Given the description of an element on the screen output the (x, y) to click on. 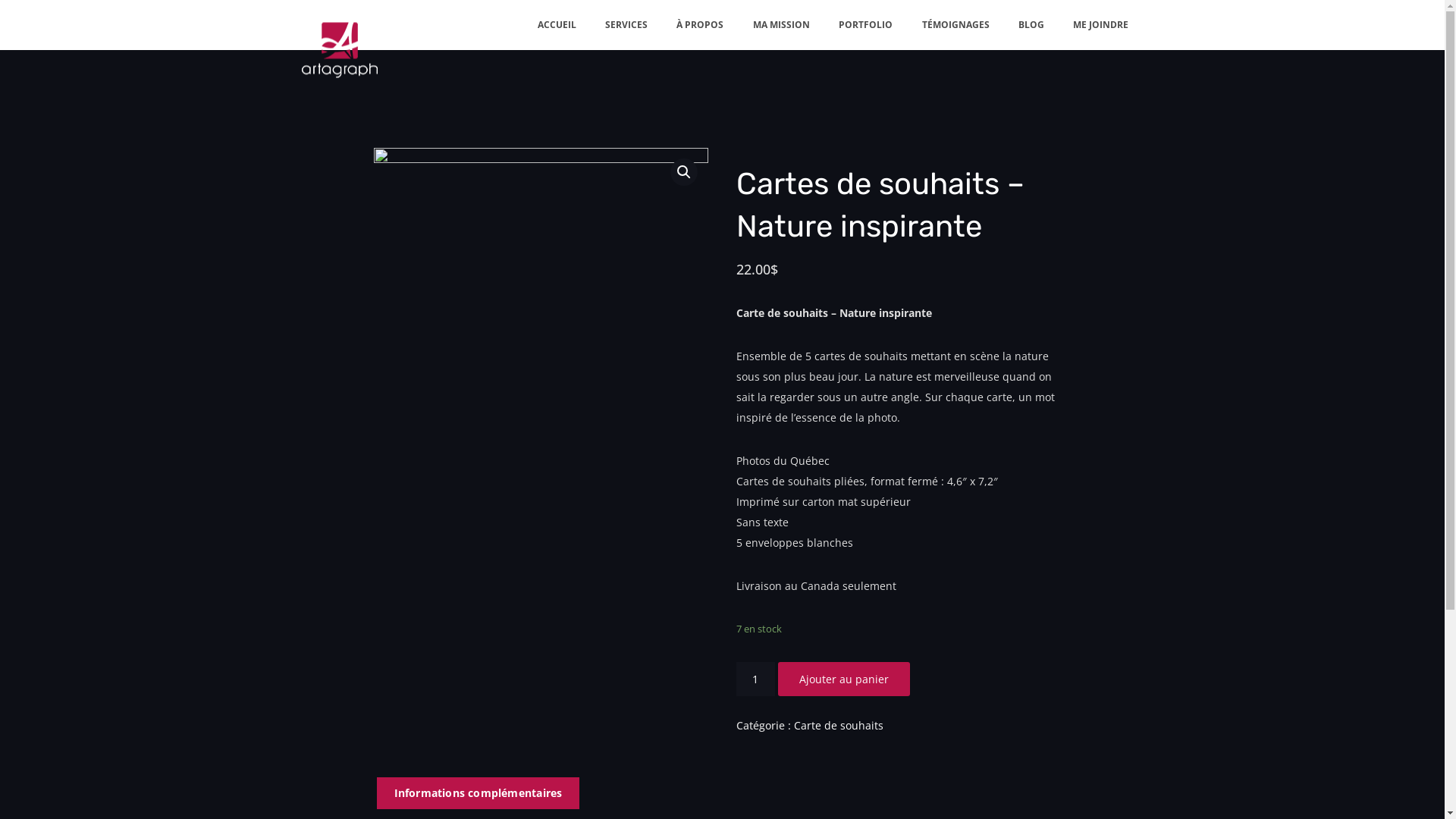
ME JOINDRE Element type: text (1100, 25)
Carte de souhaits Element type: text (838, 725)
artagraph-cartes-72 dpi Element type: hover (540, 314)
SERVICES Element type: text (626, 25)
PORTFOLIO Element type: text (865, 25)
ACCUEIL Element type: text (556, 25)
Ajouter au panier Element type: text (844, 679)
MA MISSION Element type: text (781, 25)
BLOG Element type: text (1031, 25)
